Given the description of an element on the screen output the (x, y) to click on. 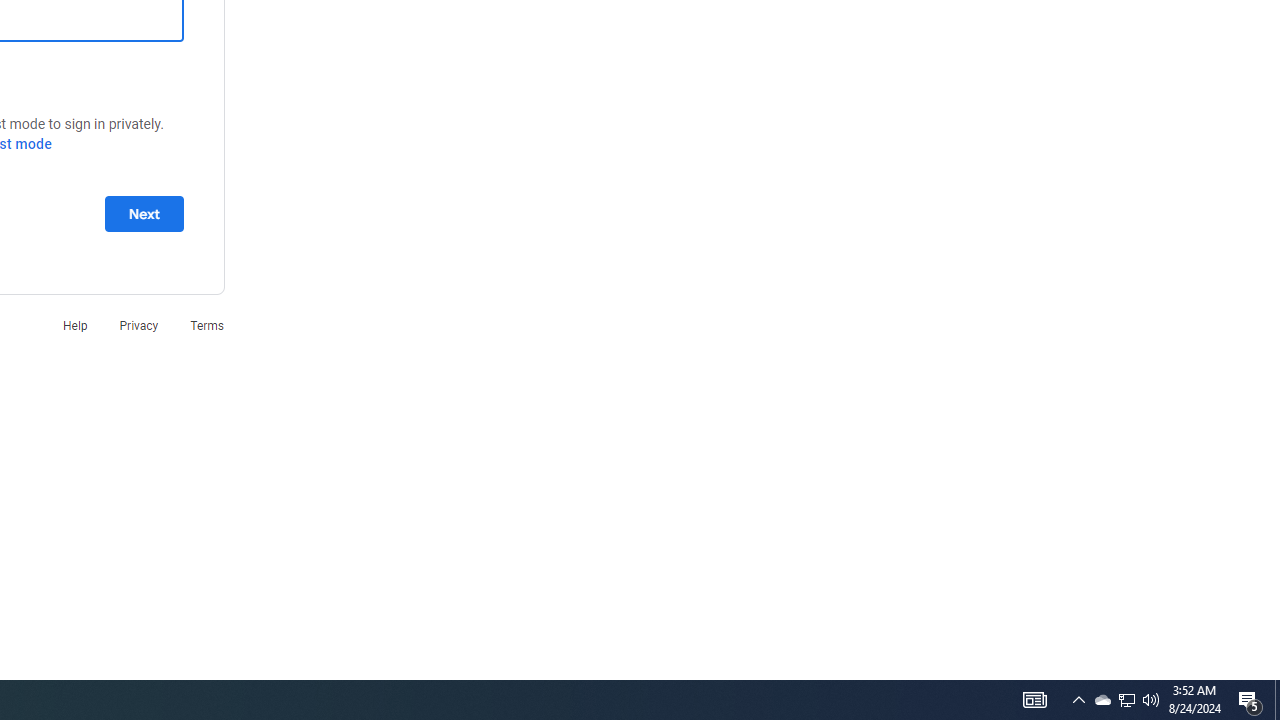
Privacy (138, 324)
Next (143, 213)
Help (74, 324)
